Given the description of an element on the screen output the (x, y) to click on. 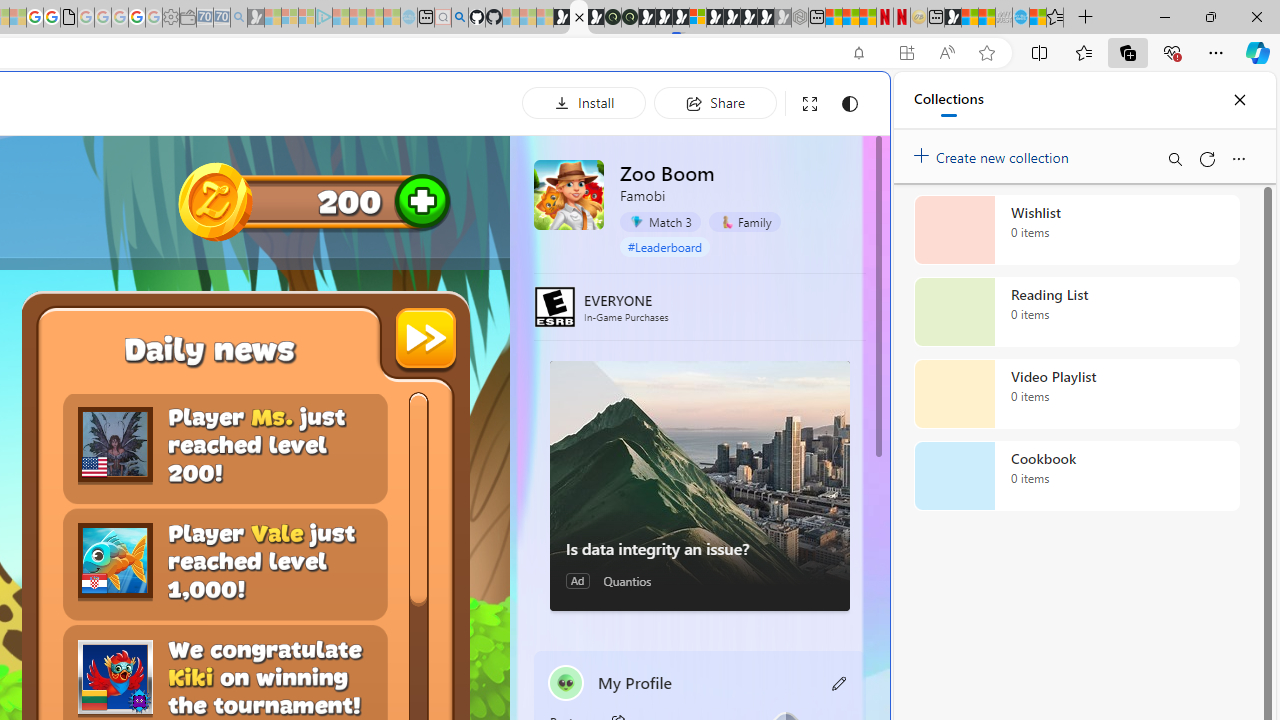
Bing Real Estate - Home sales and rental listings - Sleeping (238, 17)
MSN (952, 17)
Create new collection (994, 153)
Frequently visited (418, 265)
Play Zoo Boom in your browser | Games from Microsoft Start (578, 17)
